Given the description of an element on the screen output the (x, y) to click on. 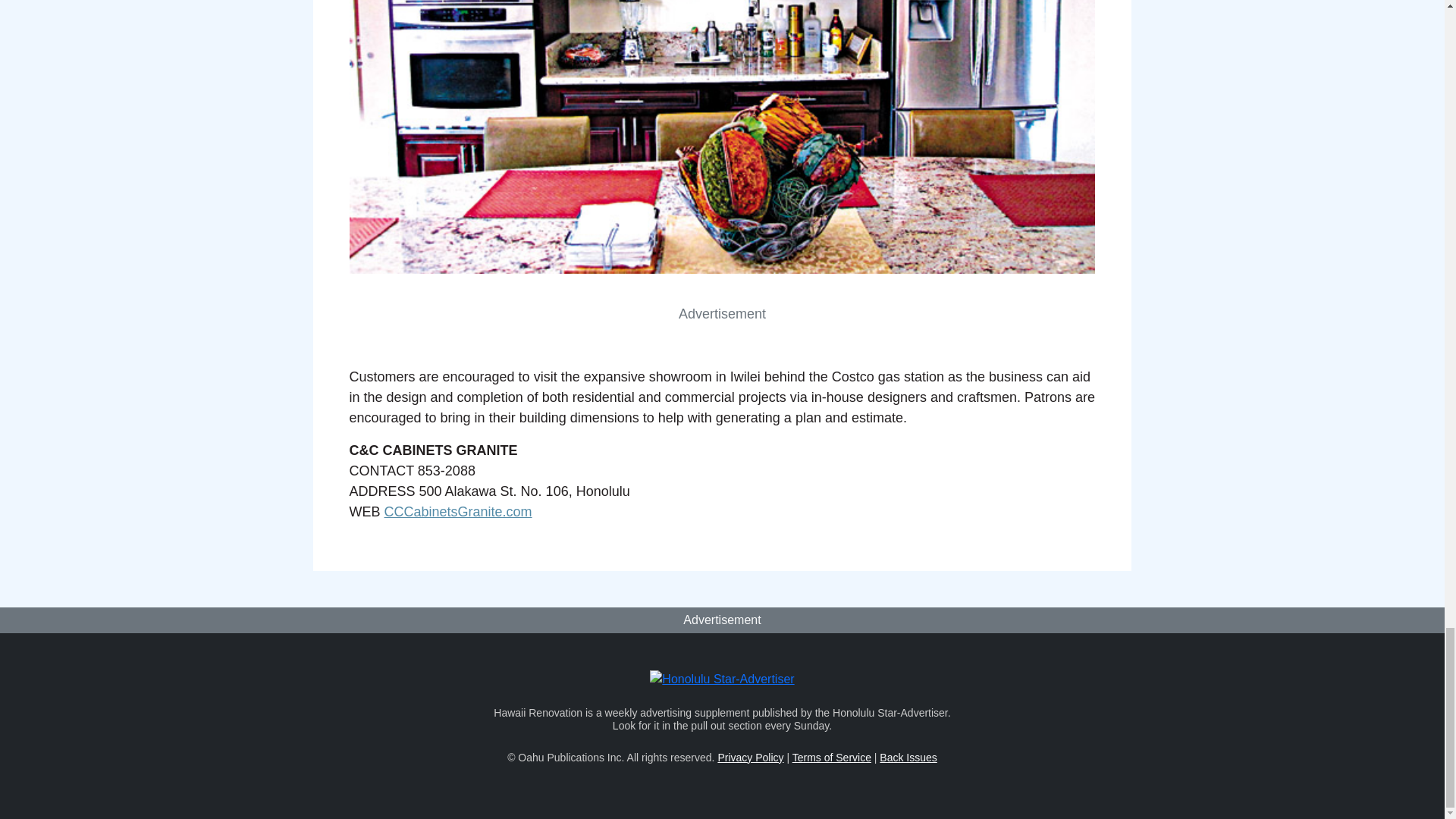
Back Issues (907, 757)
Privacy Policy (750, 757)
Terms of Service (831, 757)
CCCabinetsGranite.com (458, 511)
